Given the description of an element on the screen output the (x, y) to click on. 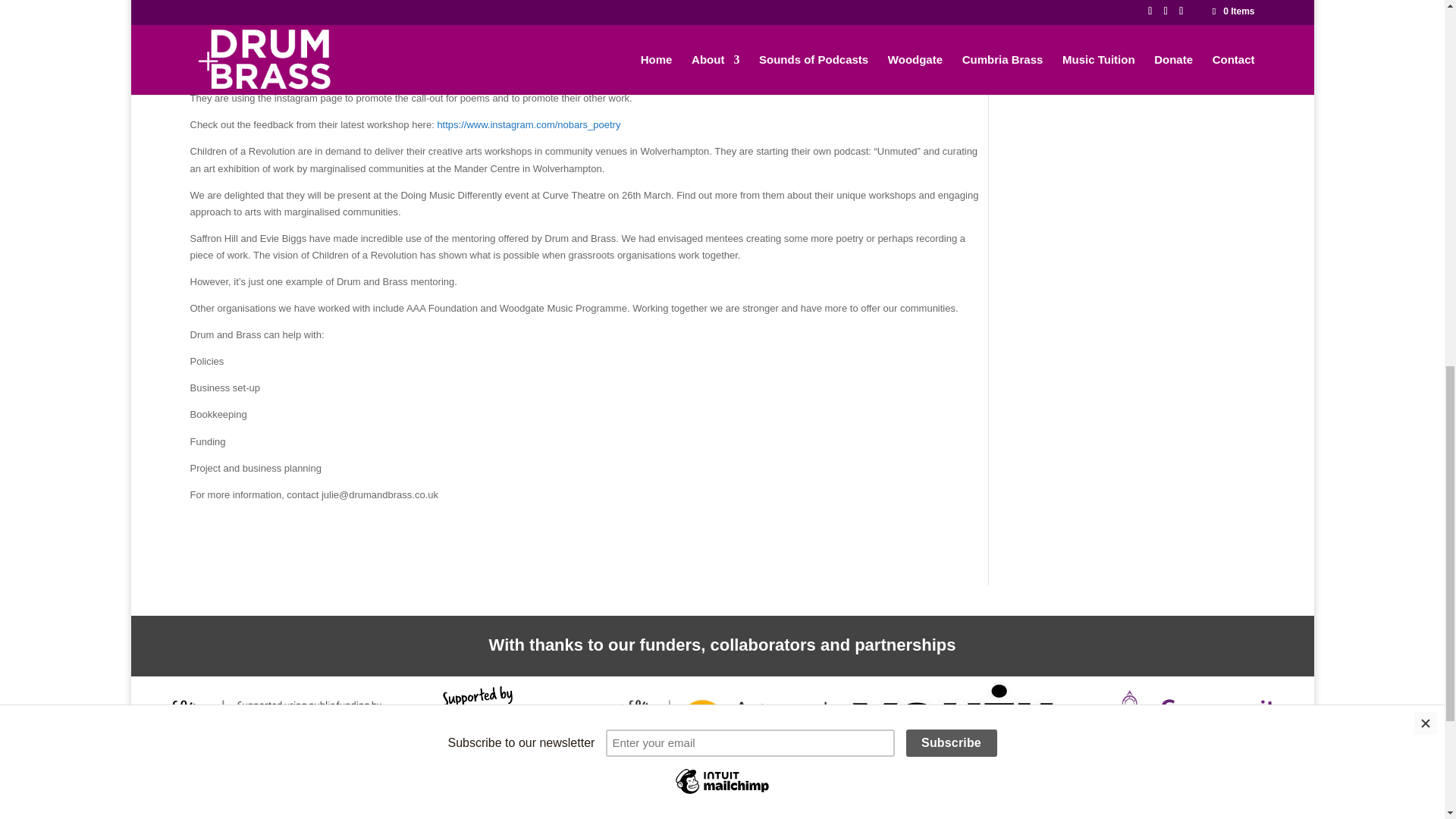
cropped-logo-1 (777, 811)
LSO (450, 808)
Marriott School (241, 812)
Screenshot 2022-03-21 at 20.24.50 (726, 733)
LRCF (1195, 728)
BAMT LOGO (1214, 811)
'Supported By' English TM - Standard (465, 736)
arts council (270, 727)
